Given the description of an element on the screen output the (x, y) to click on. 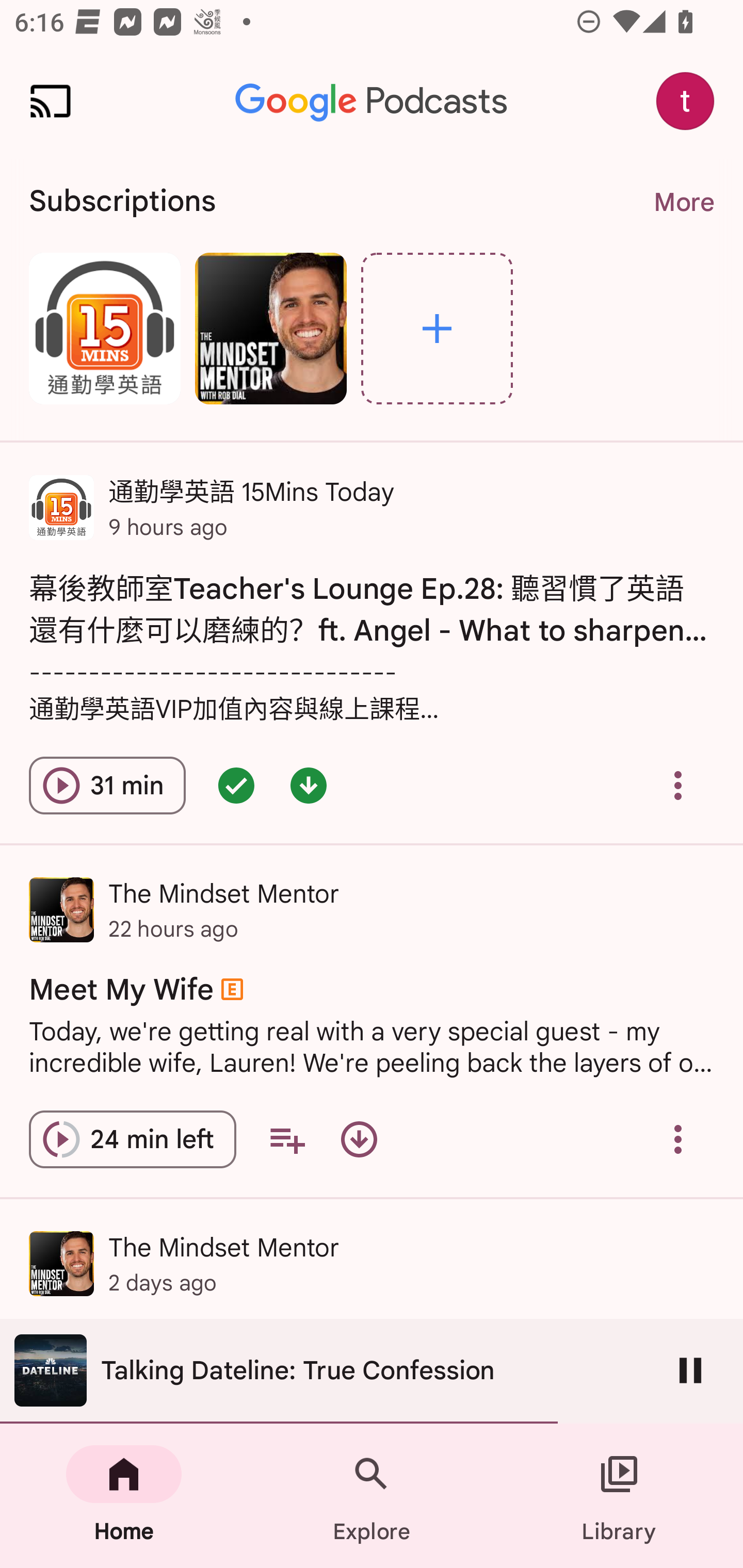
Cast. Disconnected (50, 101)
More More. Navigate to subscriptions page. (683, 202)
通勤學英語 15Mins Today (104, 328)
The Mindset Mentor (270, 328)
Explore (436, 328)
Episode queued - double tap for options (235, 785)
Episode downloaded - double tap for options (308, 785)
Overflow menu (677, 785)
Play episode Meet My Wife 24 min left (132, 1139)
Add to your queue (287, 1139)
Download episode (359, 1139)
Overflow menu (677, 1139)
Pause (690, 1370)
Explore (371, 1495)
Library (619, 1495)
